Given the description of an element on the screen output the (x, y) to click on. 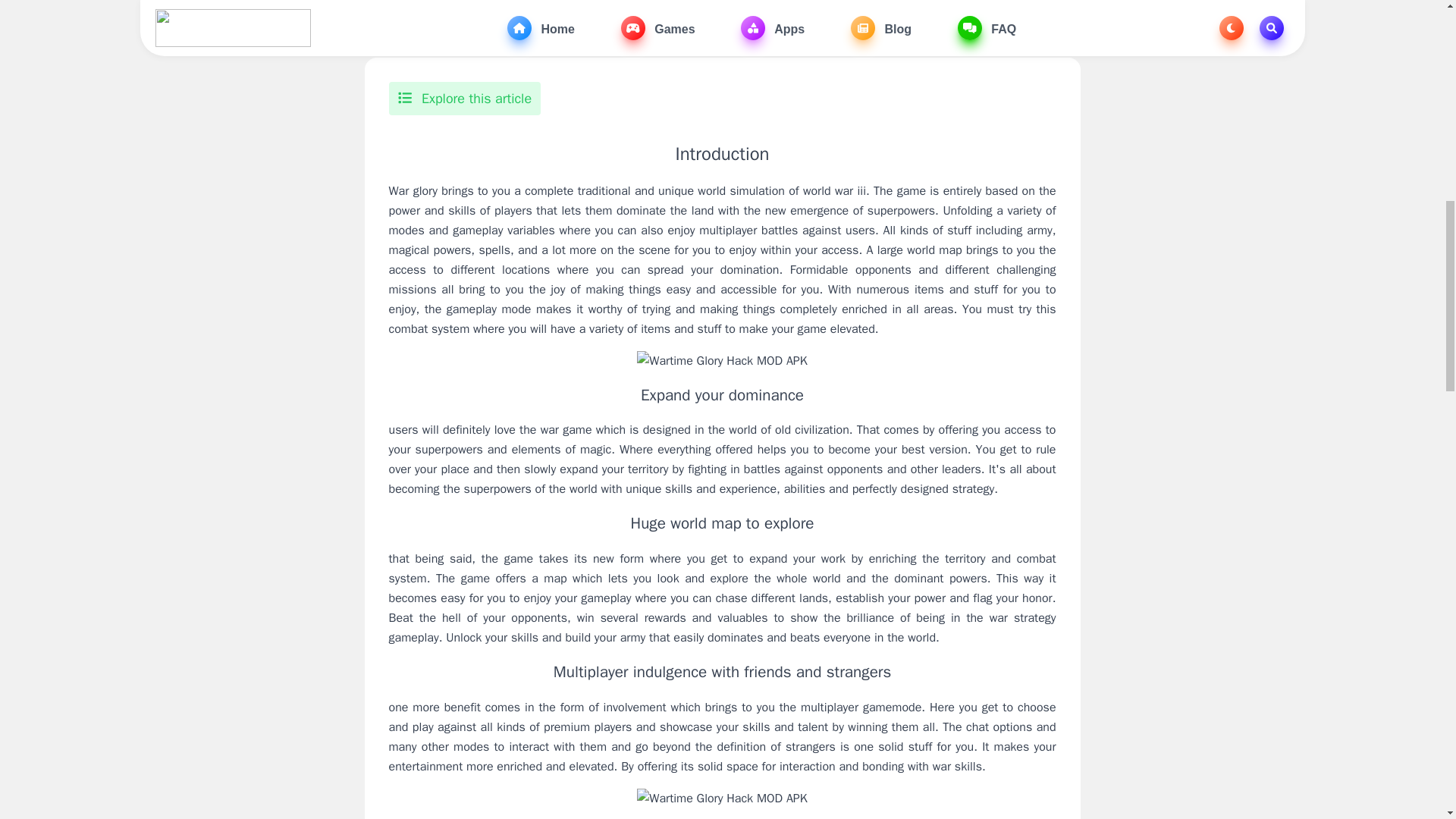
Explore this article (464, 98)
REQUEST AN UPDATE (721, 4)
